Given the description of an element on the screen output the (x, y) to click on. 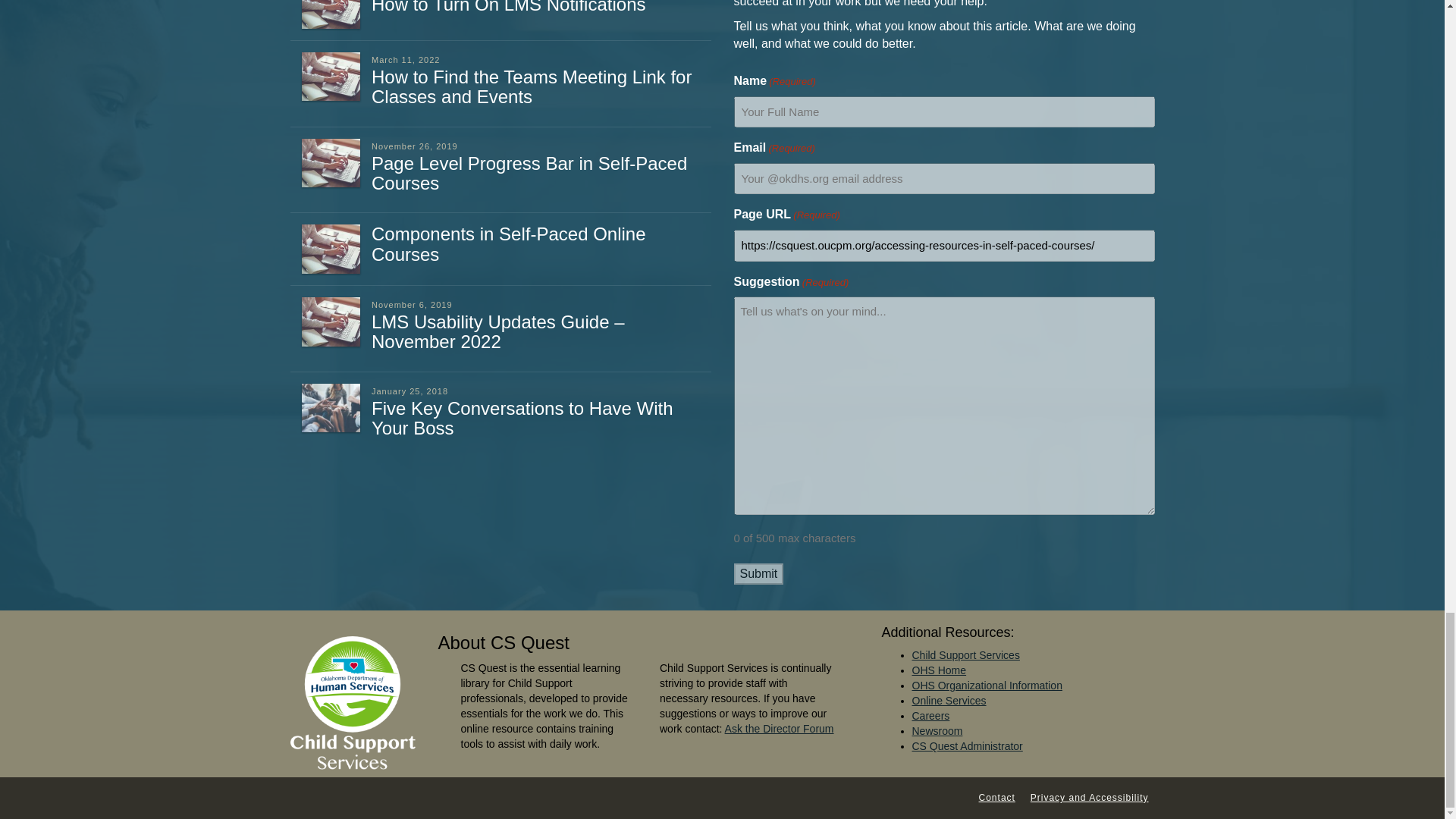
OHS Organizational Information (986, 685)
How to Turn On LMS Notifications (508, 7)
Submit (758, 574)
Five Key Conversations to Have With Your Boss (521, 418)
OHS Home (938, 670)
Submit (758, 574)
CS Quest Administrator (966, 746)
Page Level Progress Bar in Self-Paced Courses (529, 173)
Privacy and Accessibility (1089, 797)
Newsroom (936, 730)
Online Services (948, 700)
Ask the Director Forum (779, 728)
How to Find the Teams Meeting Link for Classes and Events (531, 86)
Components in Self-Paced Online Courses (508, 243)
Careers (930, 715)
